Given the description of an element on the screen output the (x, y) to click on. 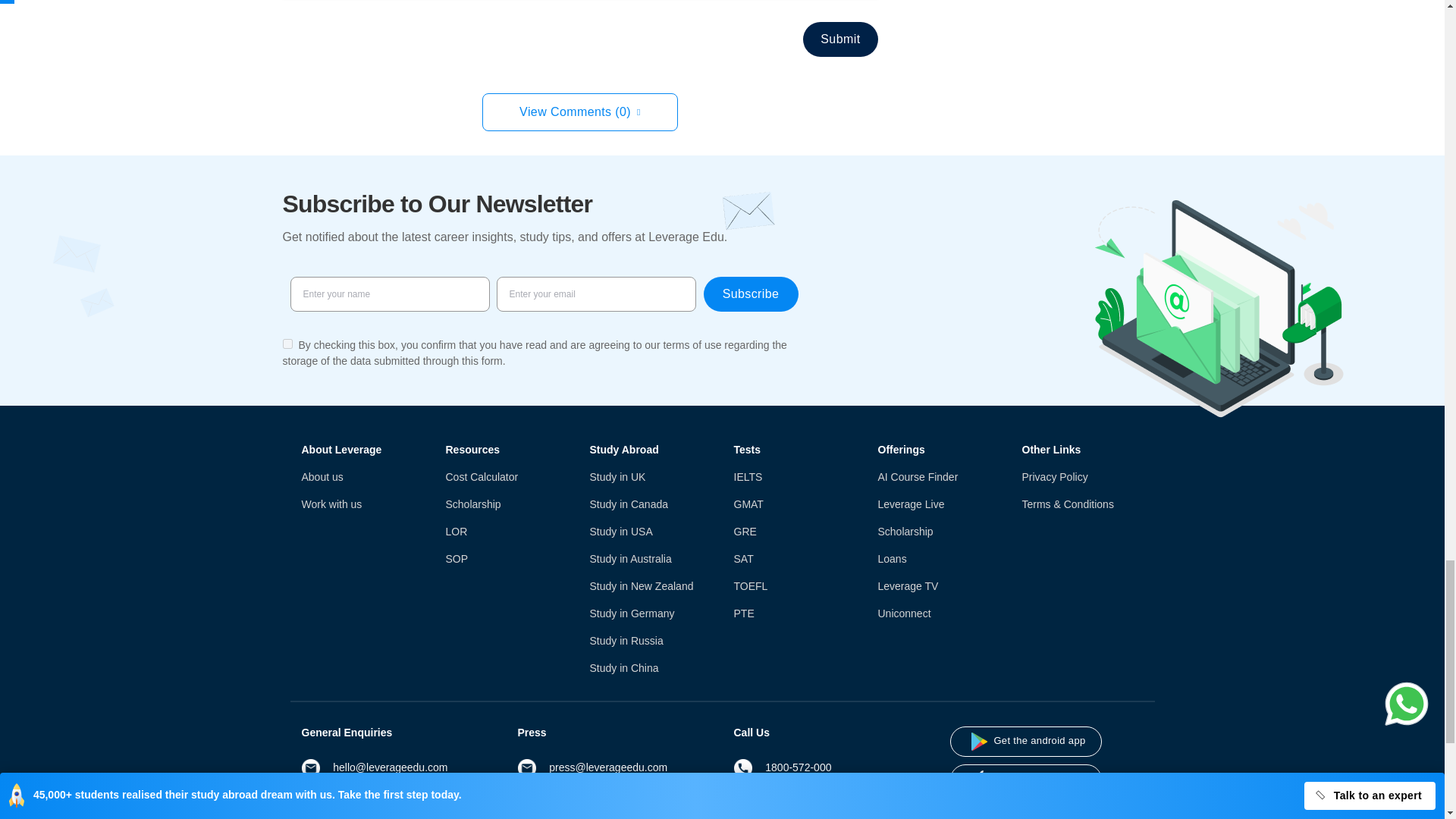
on (287, 343)
